Given the description of an element on the screen output the (x, y) to click on. 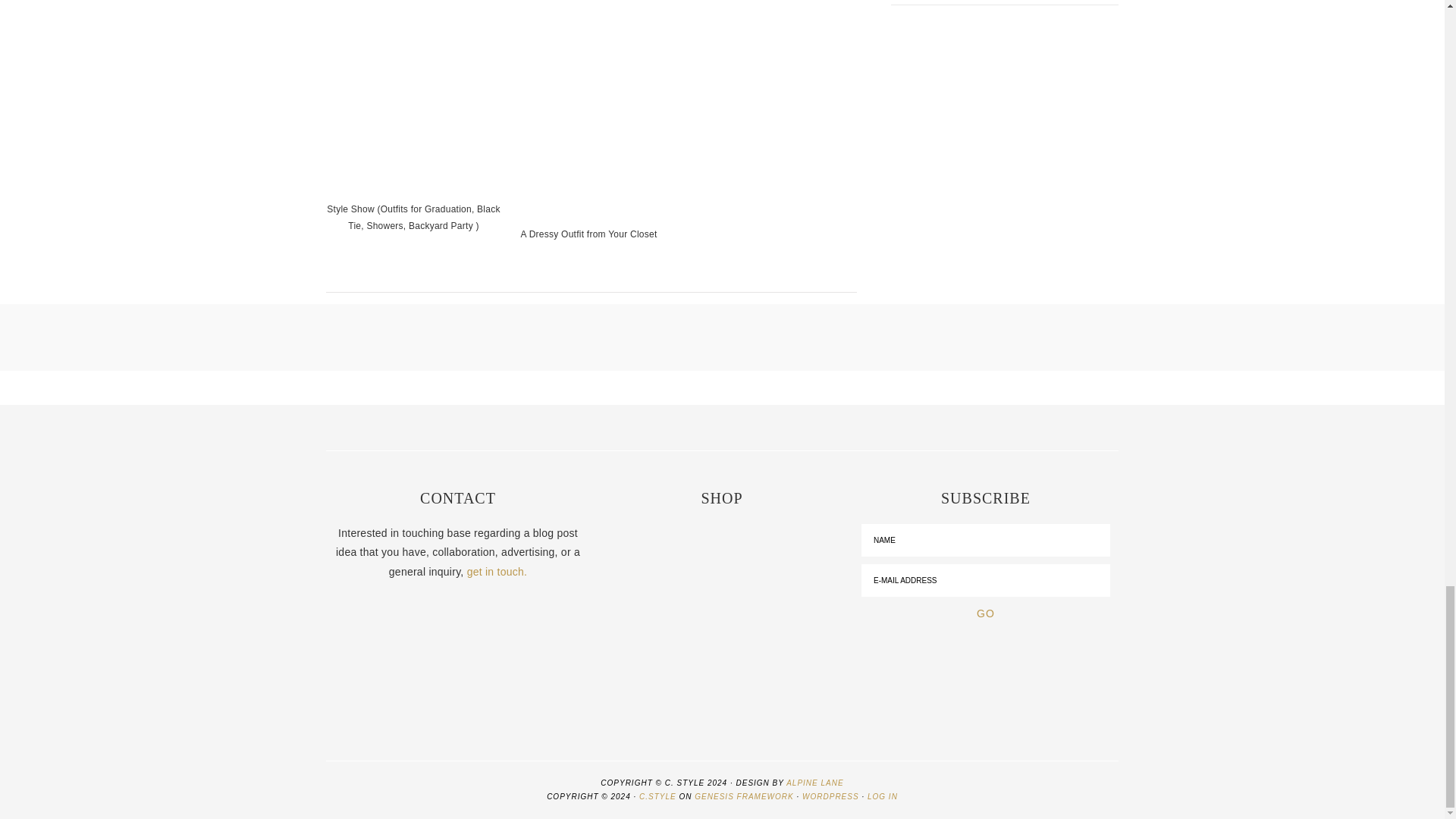
Go (985, 613)
